Given the description of an element on the screen output the (x, y) to click on. 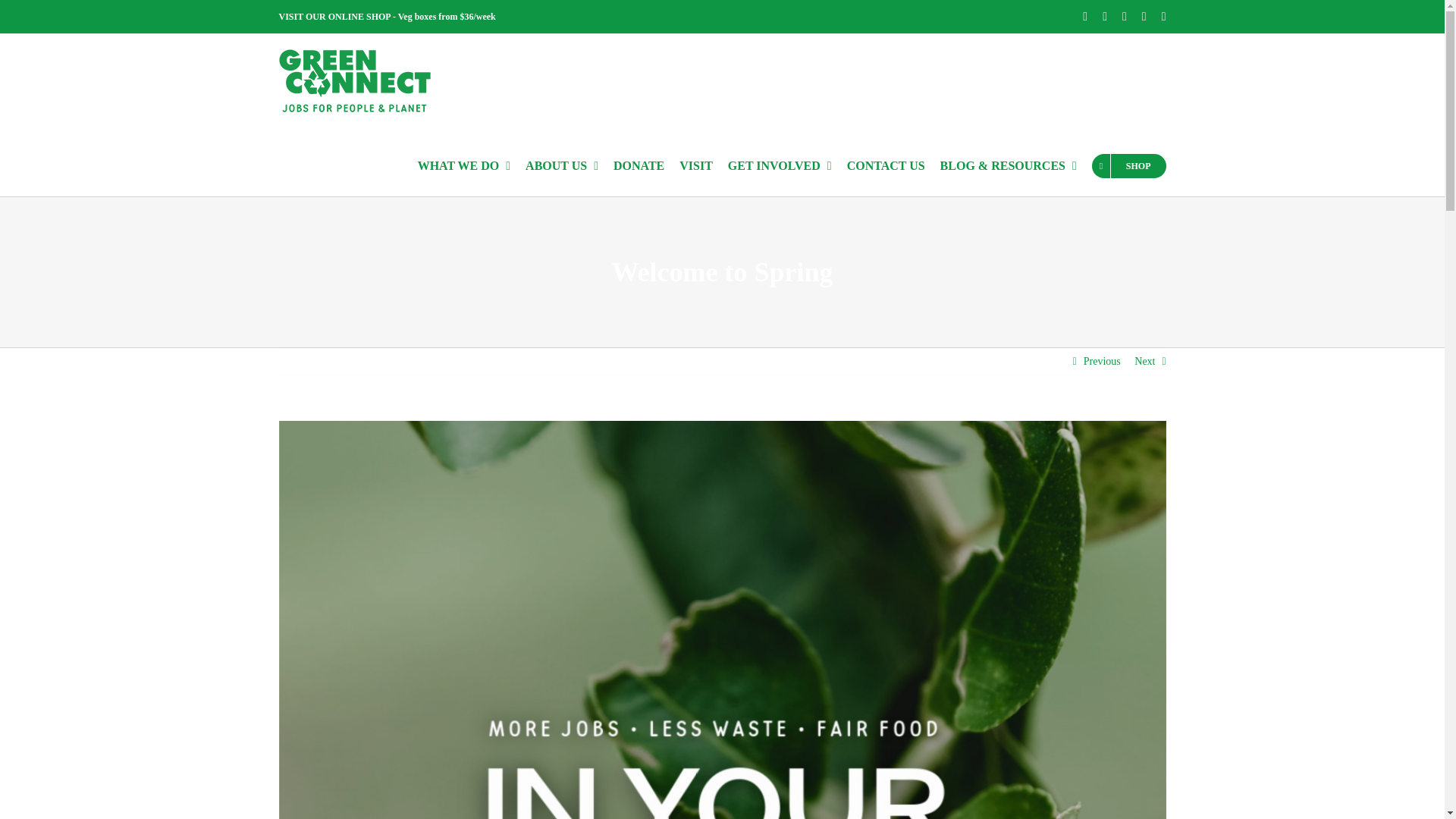
WHAT WE DO (464, 164)
VISIT (696, 164)
ABOUT US (561, 164)
CONTACT US (885, 164)
GET INVOLVED (779, 164)
DONATE (637, 164)
